Given the description of an element on the screen output the (x, y) to click on. 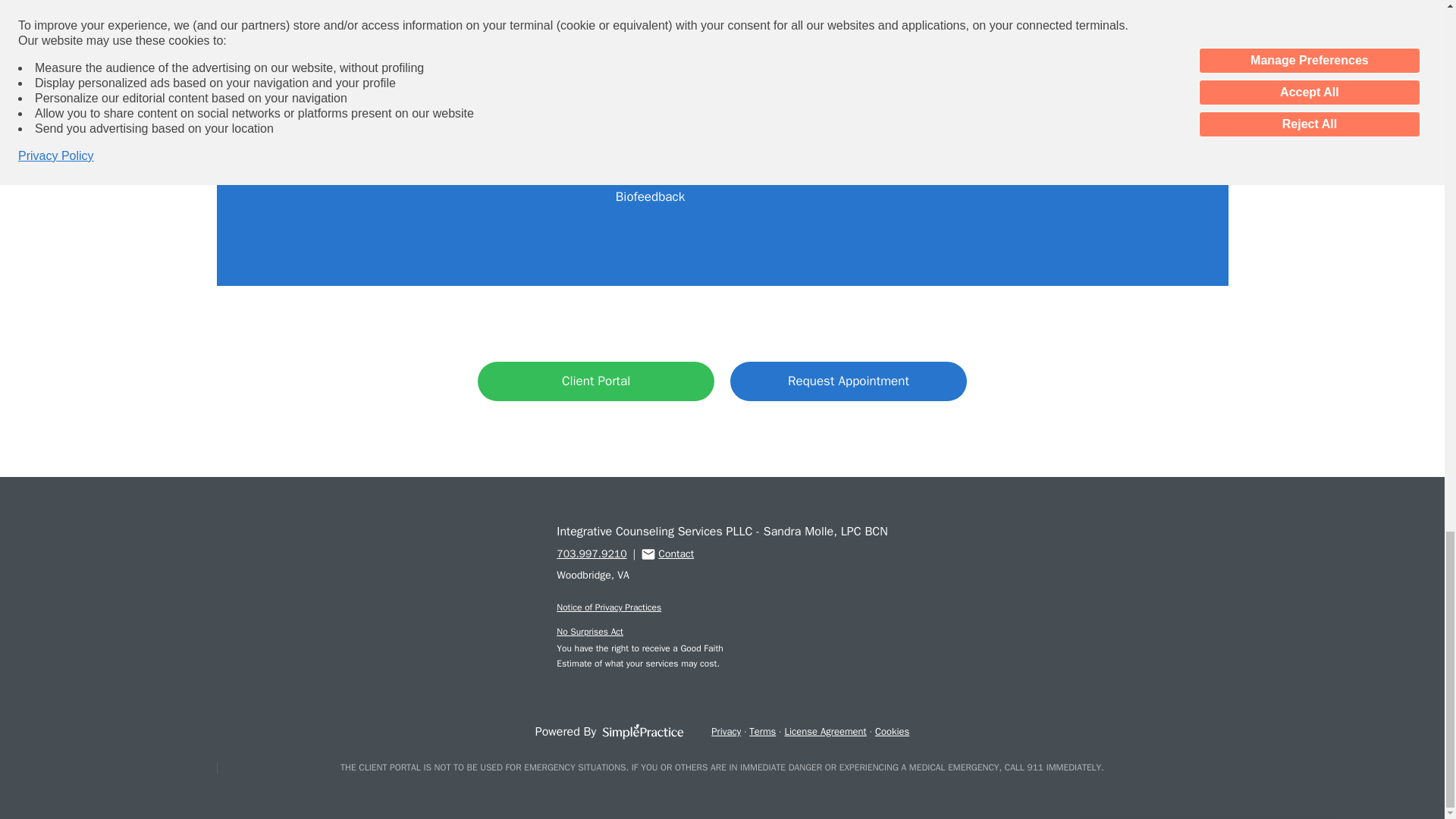
No Surprises Act (589, 631)
Request Appointment (848, 381)
703.997.9210 (591, 553)
Terms (762, 731)
Privacy (726, 731)
Cookies (891, 731)
Client Portal (595, 381)
Notice of Privacy Practices (608, 607)
Contact (668, 554)
License Agreement (825, 731)
